Given the description of an element on the screen output the (x, y) to click on. 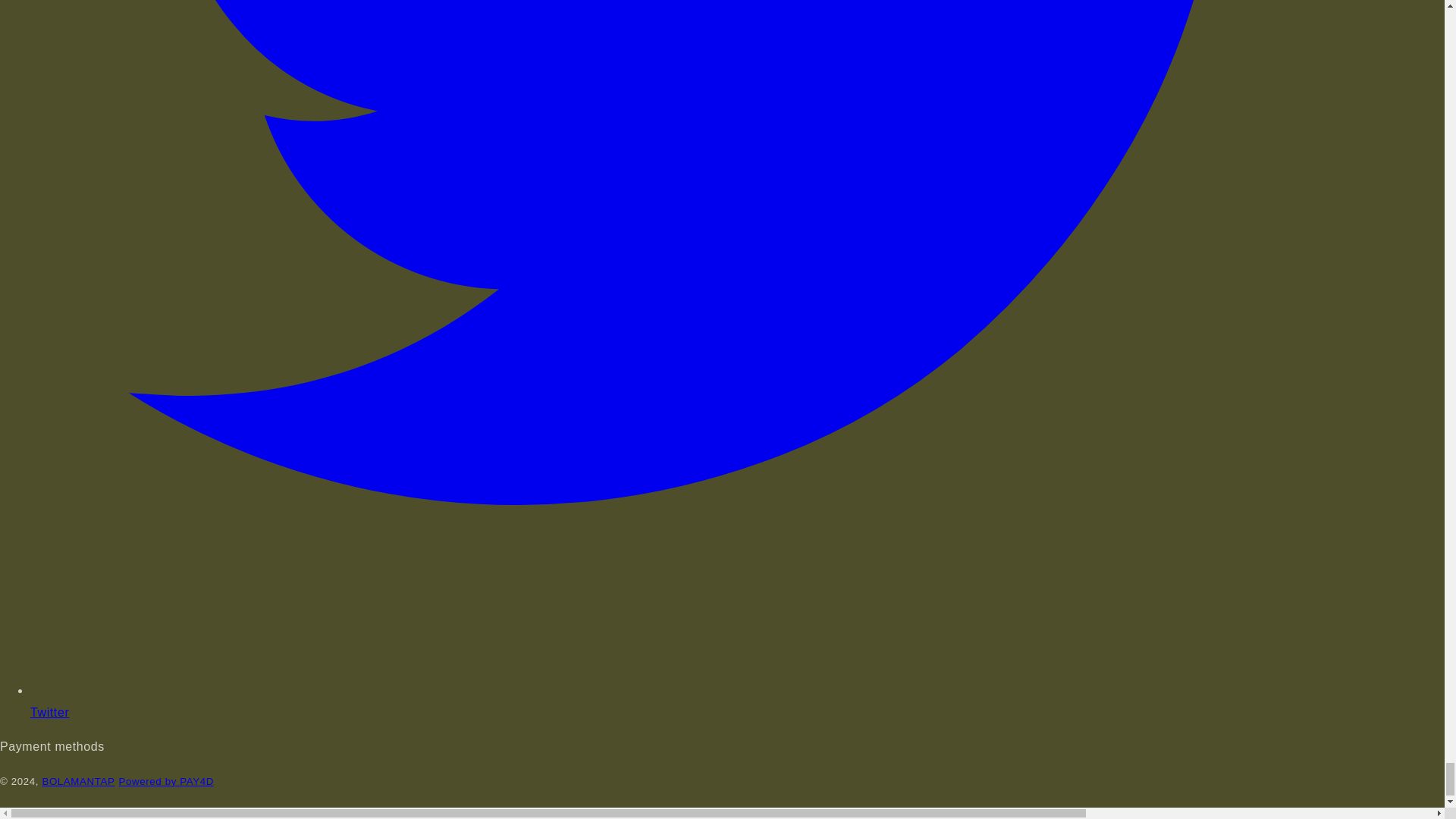
Powered by PAY4D (737, 701)
BOLAMANTAP (166, 781)
